Given the description of an element on the screen output the (x, y) to click on. 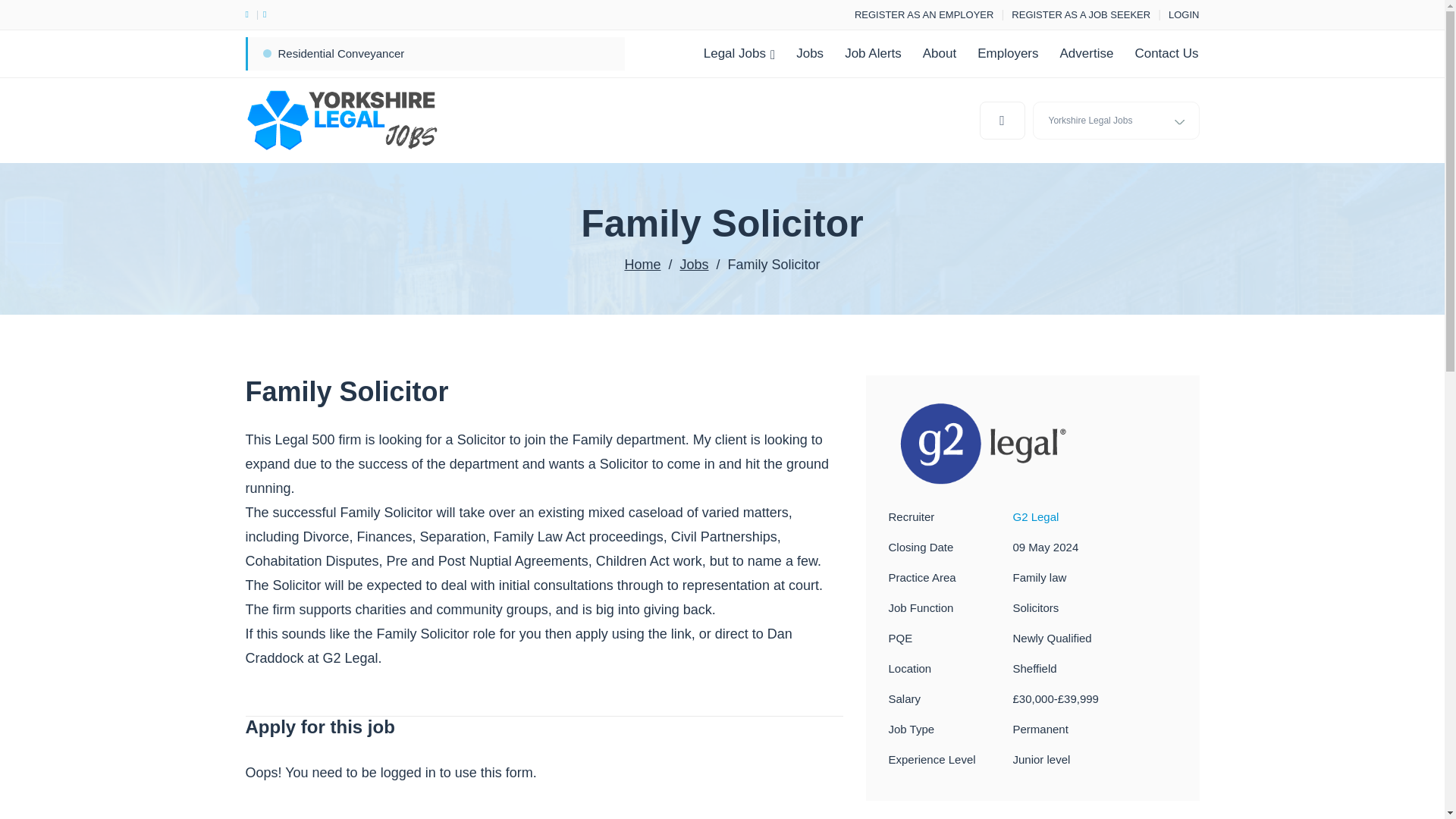
Employers (1007, 53)
Jobs (693, 264)
REGISTER AS AN EMPLOYER (924, 14)
Job Alerts (873, 53)
Legal Jobs (739, 53)
Advertise (1086, 53)
REGISTER AS A JOB SEEKER (1080, 14)
Home (642, 264)
Contact Us (1166, 53)
LOGIN (1183, 14)
G2 Legal (1036, 516)
Jobs (810, 53)
Residential Conveyancer (341, 52)
About (939, 53)
